Given the description of an element on the screen output the (x, y) to click on. 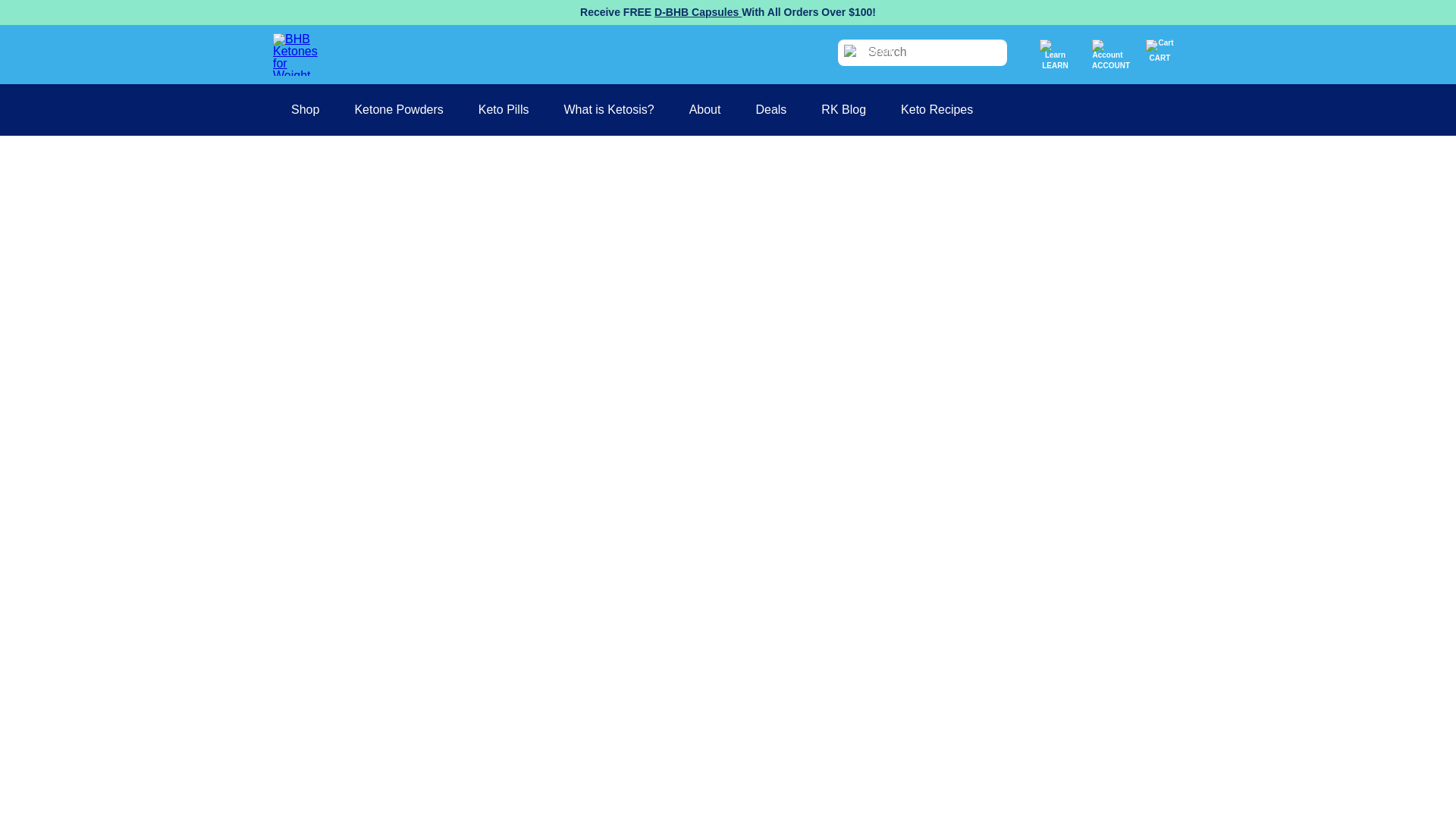
D-BHB Capsules (697, 11)
Keto Pills (503, 109)
What is Ketosis? (608, 109)
ACCOUNT (1107, 49)
RK Blog (843, 109)
Shop (304, 109)
Deals (770, 109)
About (704, 109)
CART (1159, 49)
Keto Recipes (936, 109)
